Given the description of an element on the screen output the (x, y) to click on. 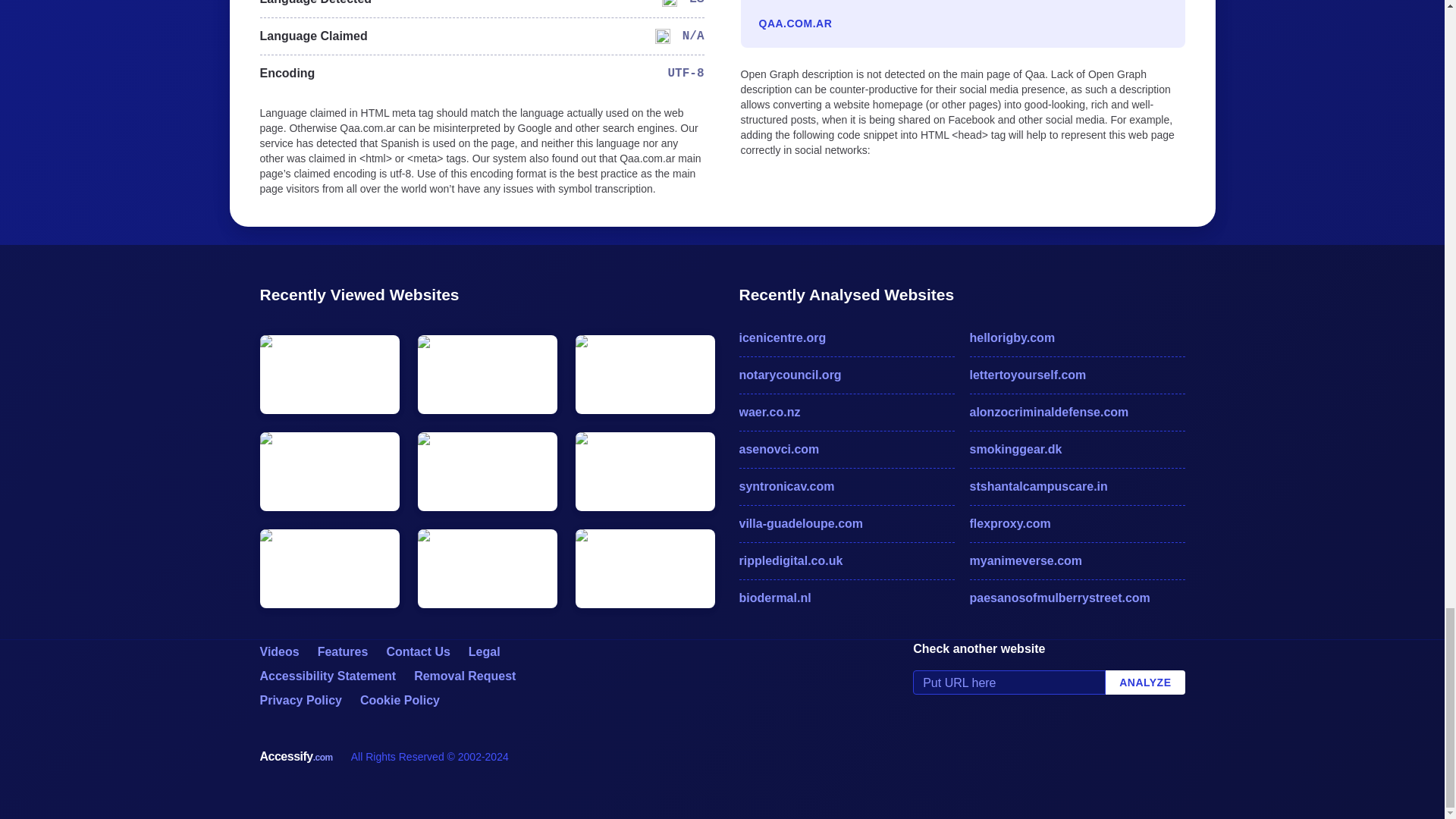
Screencasts: video tutorials and guides (278, 651)
Videos (278, 651)
lettertoyourself.com (1077, 375)
smokinggear.dk (1077, 449)
villa-guadeloupe.com (845, 524)
Legal (484, 651)
flexproxy.com (1077, 524)
stshantalcampuscare.in (1077, 486)
asenovci.com (845, 449)
paesanosofmulberrystreet.com (1077, 597)
